Given the description of an element on the screen output the (x, y) to click on. 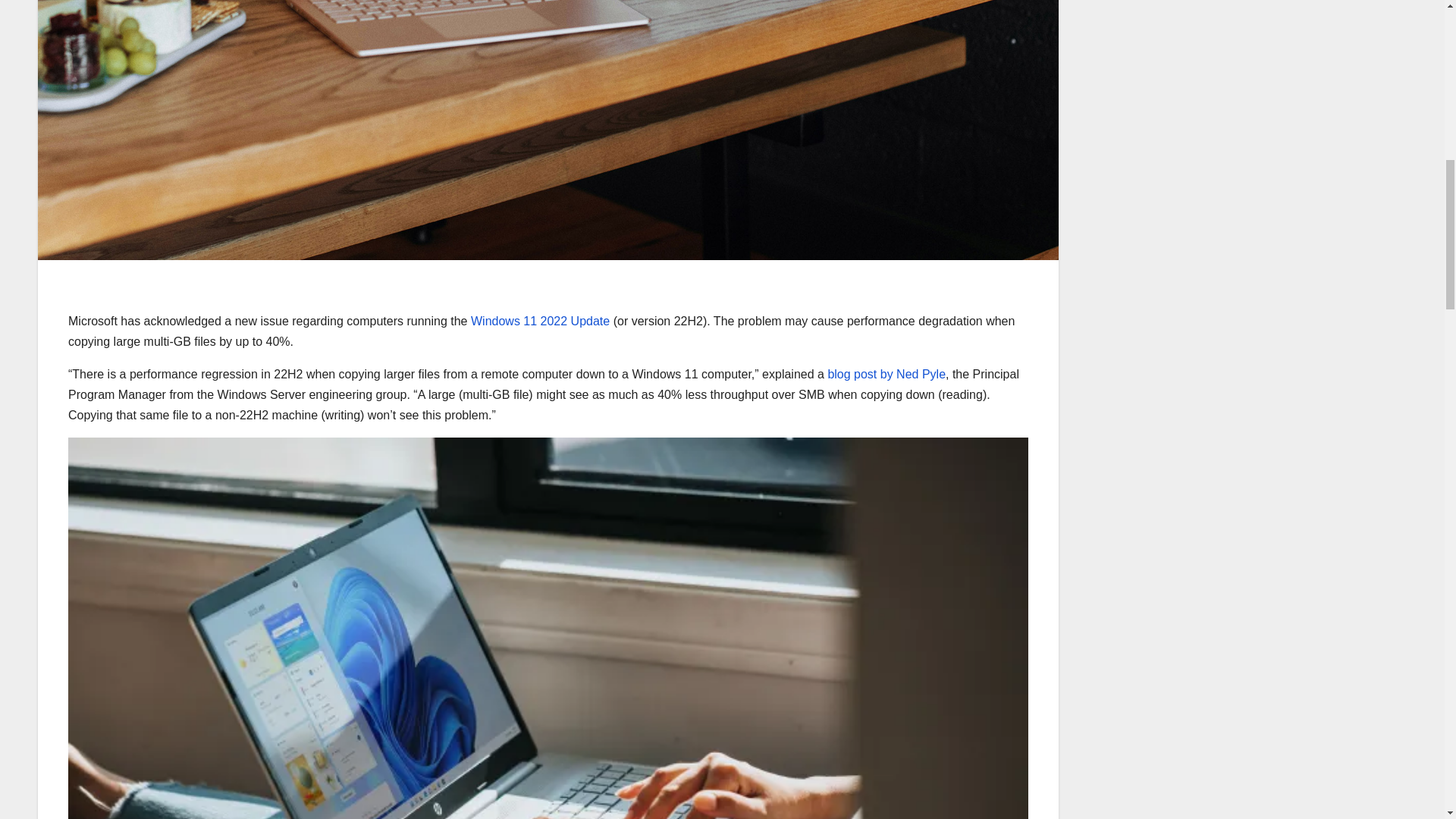
Windows 11 2022 Update (540, 320)
blog post by Ned Pyle (885, 373)
